Given the description of an element on the screen output the (x, y) to click on. 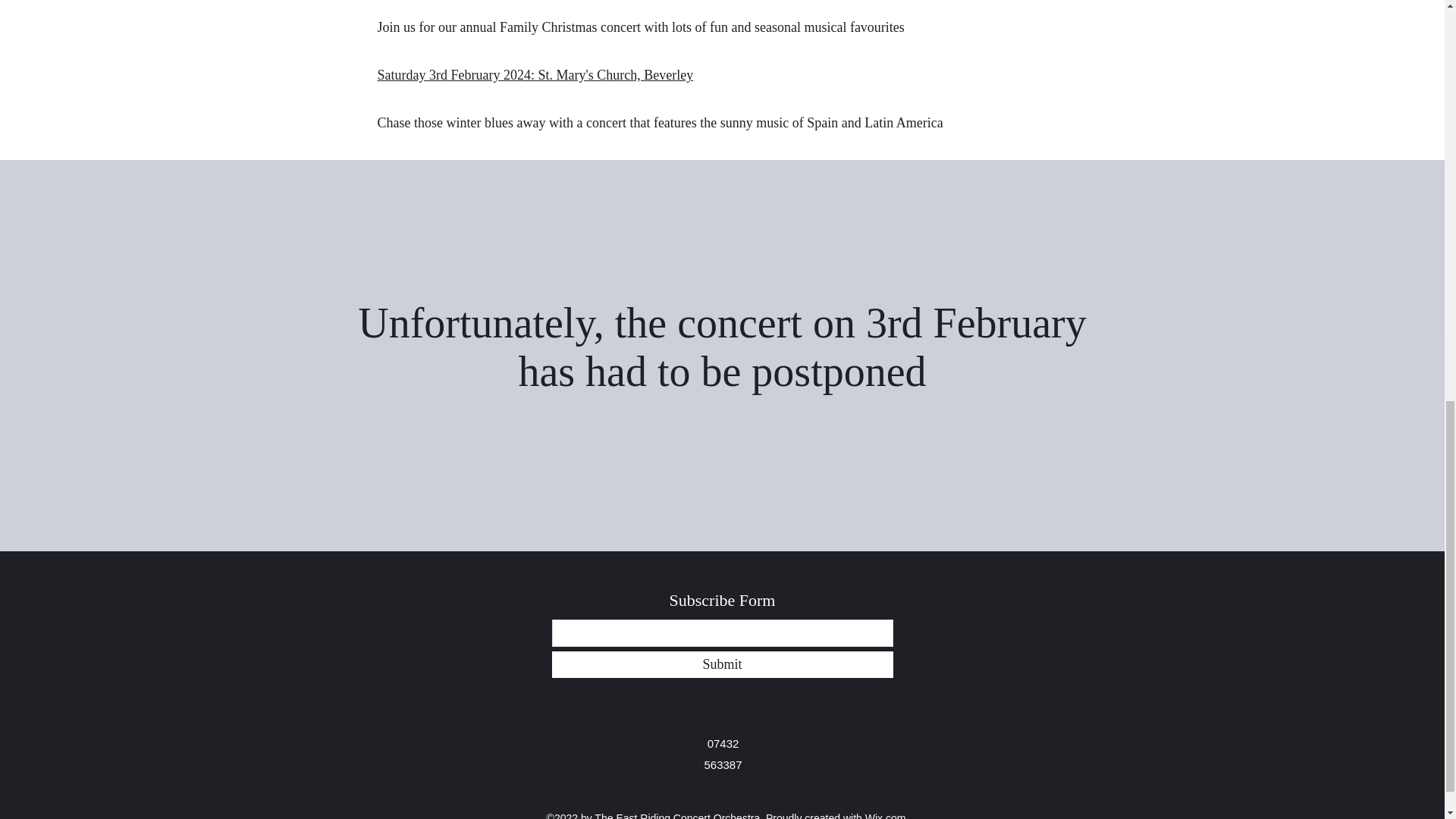
Submit (722, 664)
